Given the description of an element on the screen output the (x, y) to click on. 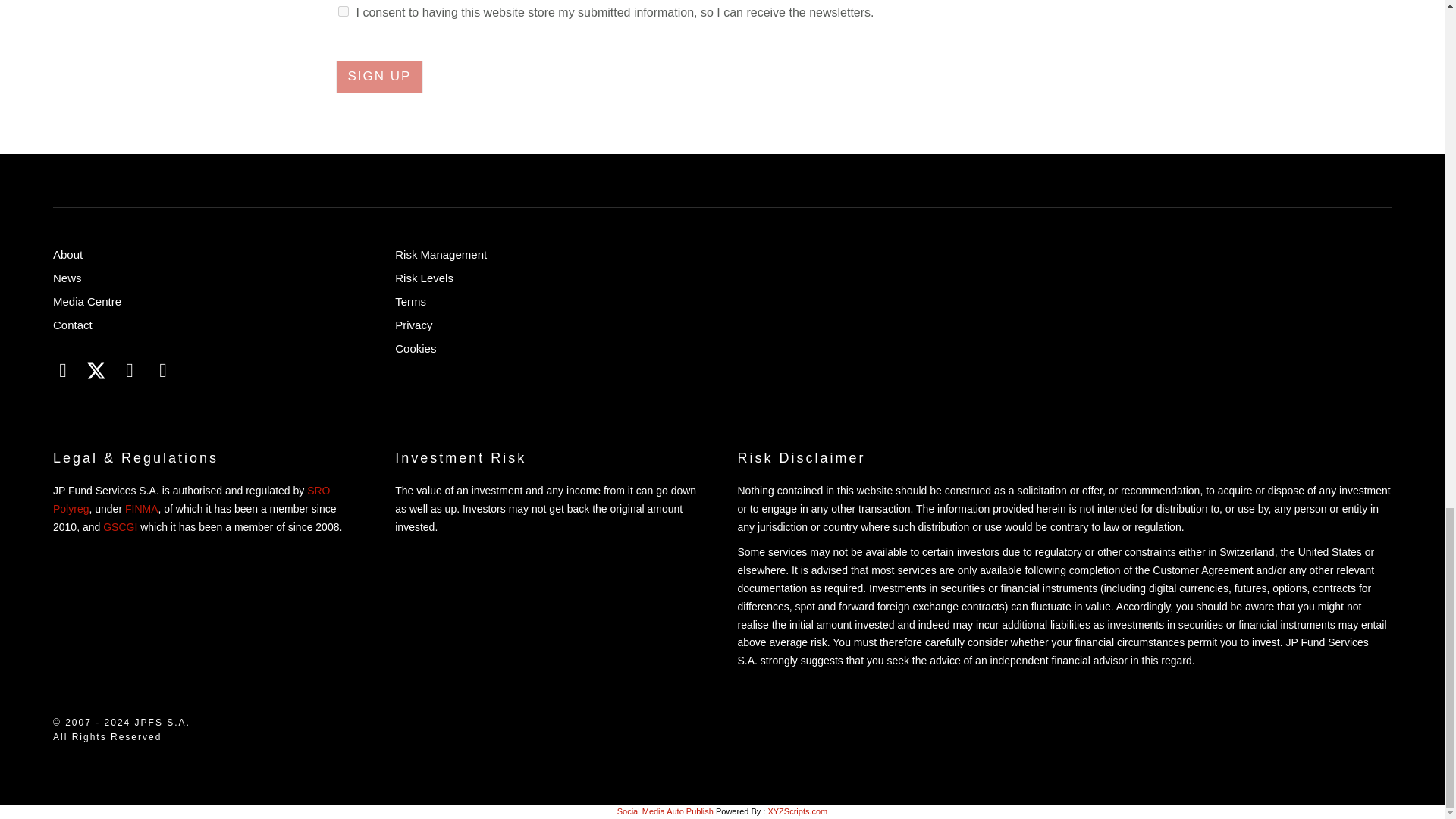
LinkedIn (63, 370)
News (208, 280)
Social Media Auto Publish (665, 810)
About (208, 256)
Facebook (130, 370)
SIGN UP (378, 76)
RSS Feeds (163, 370)
